Given the description of an element on the screen output the (x, y) to click on. 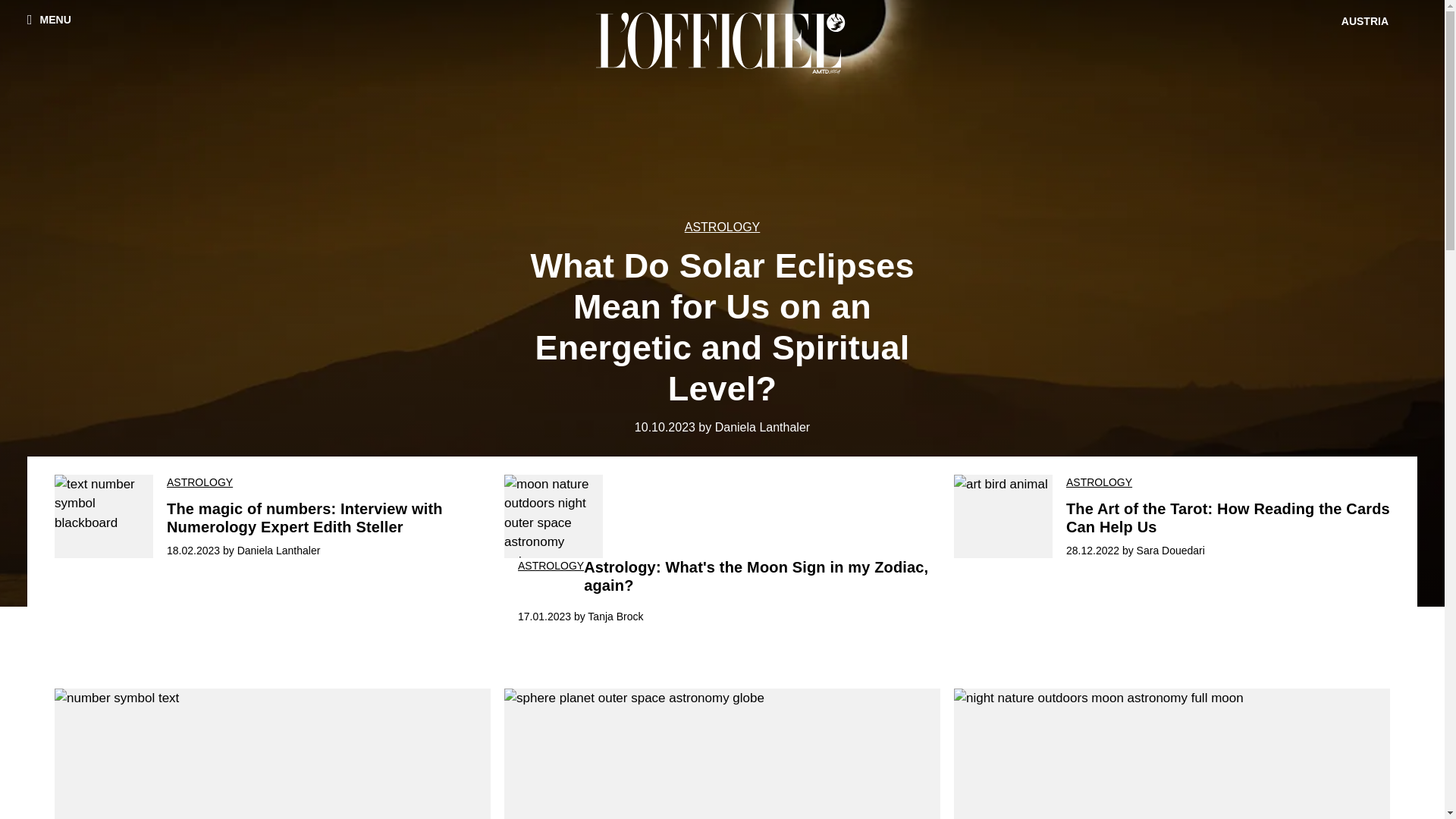
L'Officiel austria (722, 42)
MENU (49, 19)
L'Officiel austria (721, 42)
AUSTRIA (1366, 21)
